Given the description of an element on the screen output the (x, y) to click on. 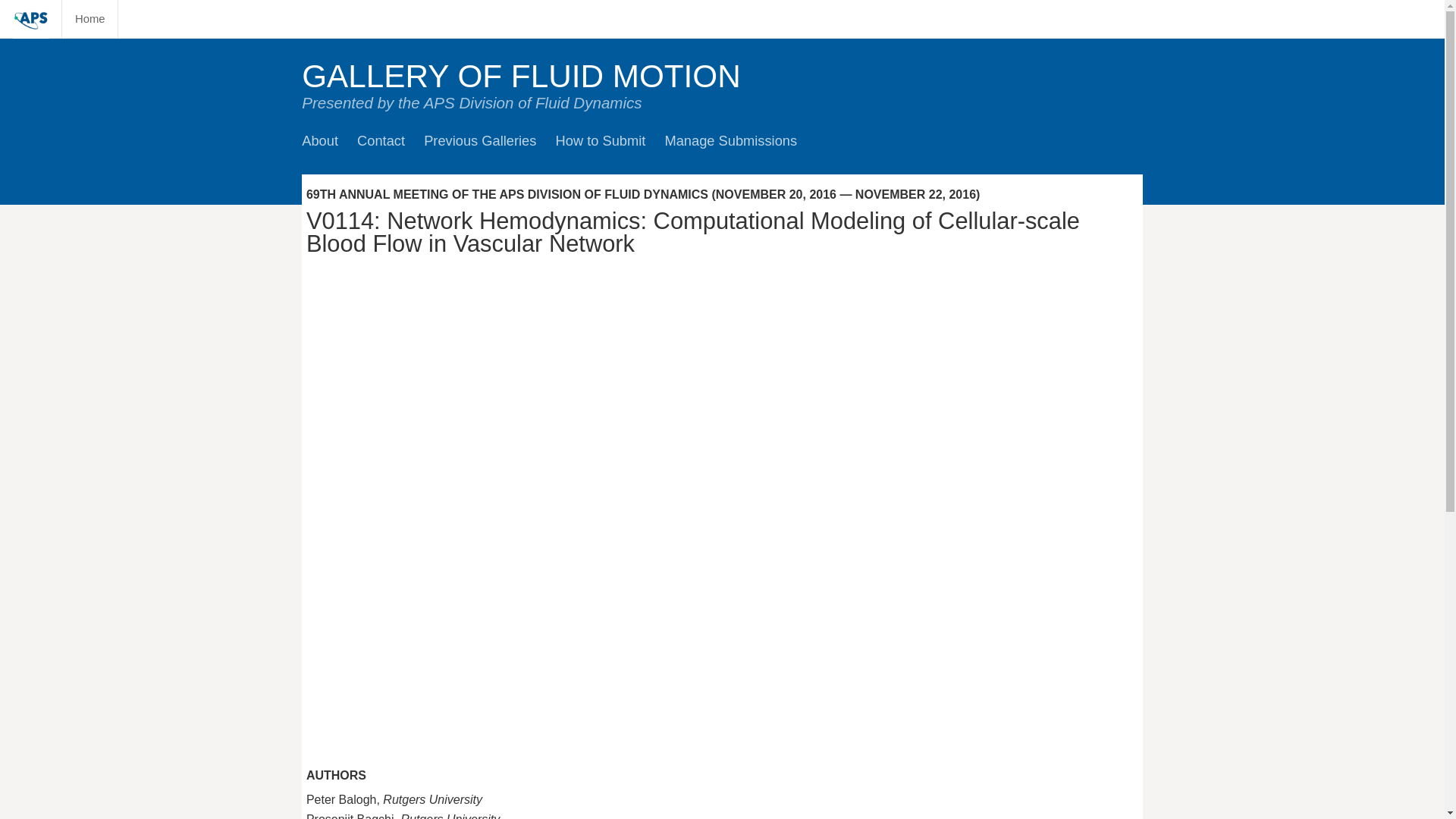
Home (89, 18)
How to Submit (601, 140)
GALLERY OF FLUID MOTION (521, 76)
Manage Submissions (729, 140)
Previous Galleries (479, 140)
About (319, 140)
Contact (380, 140)
